Given the description of an element on the screen output the (x, y) to click on. 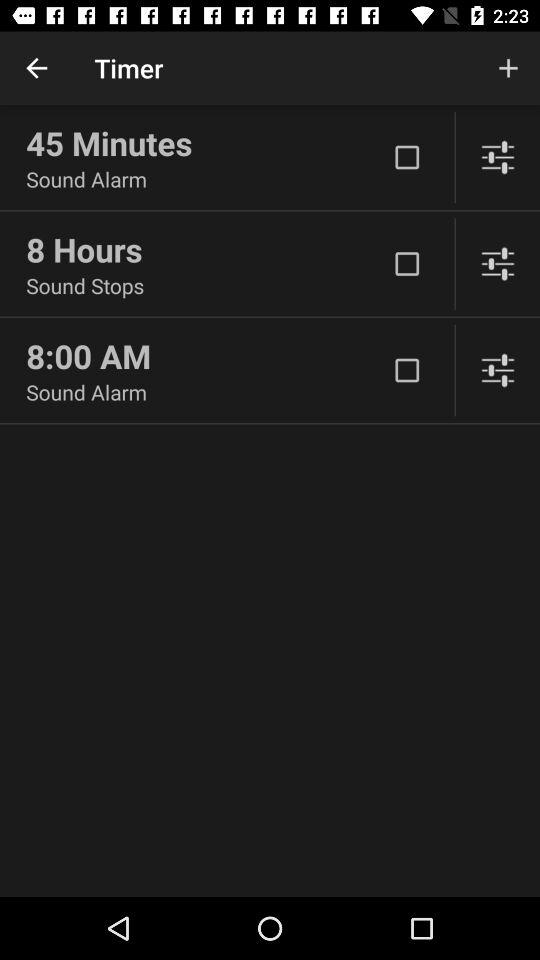
jump to the 8:00 am icon (206, 356)
